Given the description of an element on the screen output the (x, y) to click on. 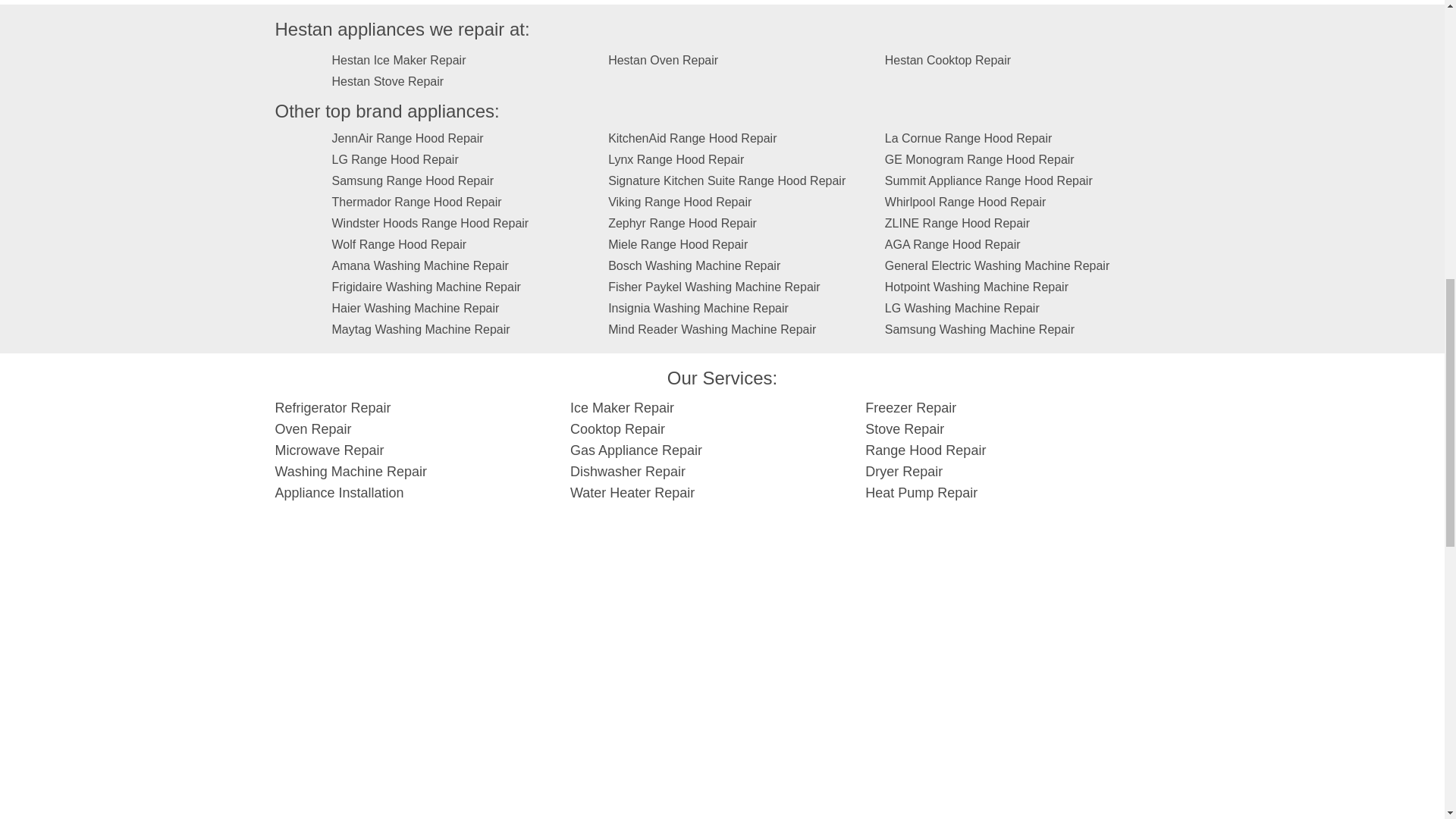
AGA Range Hood Repair (952, 244)
JennAir Range Hood Repair (407, 137)
Samsung Washing Machine Repair (979, 328)
Frigidaire Washing Machine Repair (426, 286)
LG Washing Machine Repair (962, 308)
Wolf Range Hood Repair (399, 244)
Signature Kitchen Suite Range Hood Repair (726, 180)
Refrigerator Repair (332, 407)
Hestan Cooktop Repair (947, 60)
Miele Range Hood Repair (678, 244)
Insignia Washing Machine Repair (698, 308)
Samsung Range Hood Repair (412, 180)
Hestan Stove Repair (387, 81)
Maytag Washing Machine Repair (421, 328)
Whirlpool Range Hood Repair (965, 201)
